Given the description of an element on the screen output the (x, y) to click on. 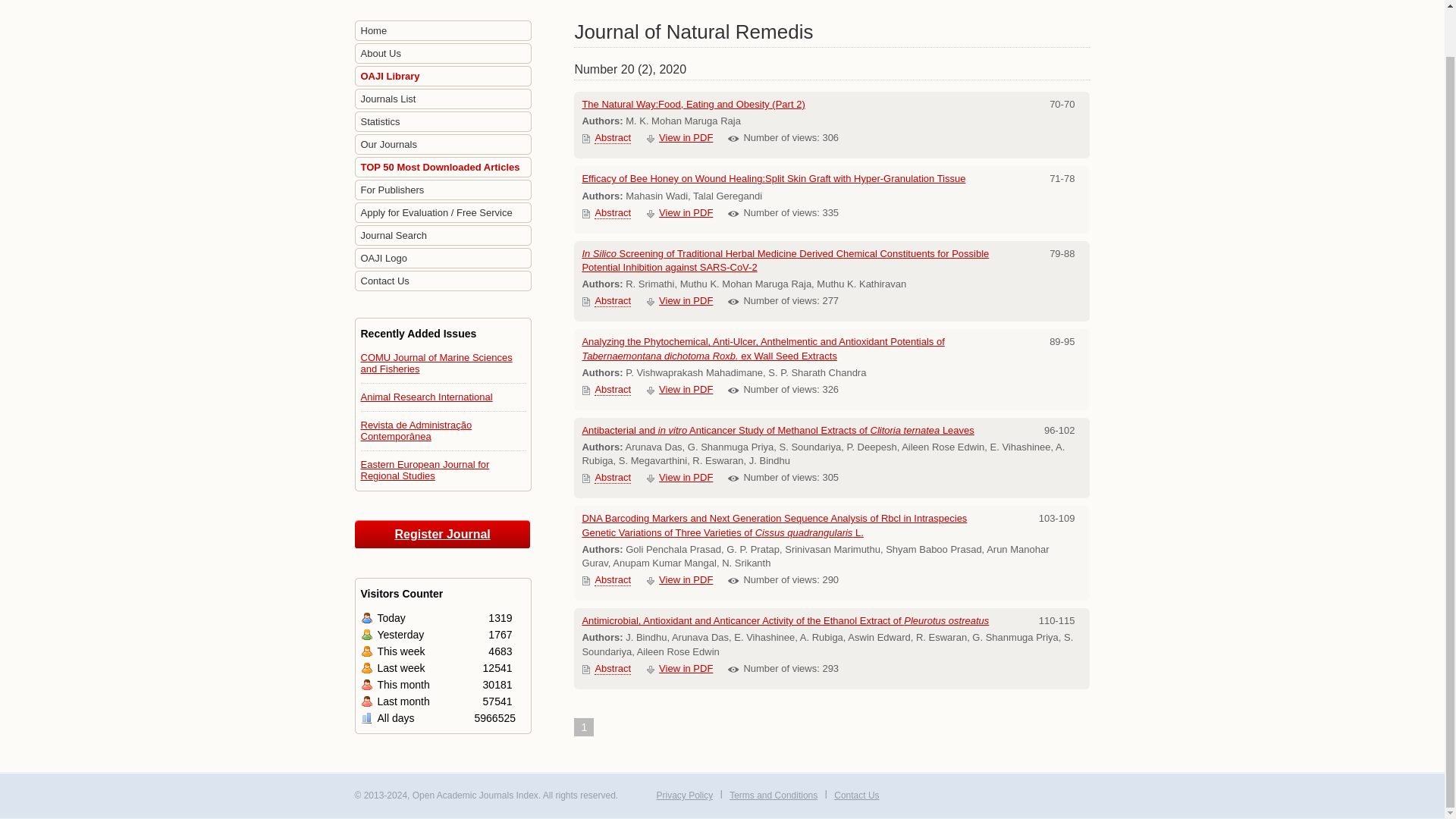
View in PDF (686, 137)
Contact Us (443, 281)
Home (443, 31)
Our Journals (443, 145)
Abstract (612, 137)
Animal Research International (427, 396)
Register Journal (443, 533)
Journal Search (443, 236)
For Publishers (443, 190)
Eastern European Journal for Regional Studies (425, 469)
View in PDF (686, 212)
OAJI Library (443, 76)
LiveInternet (917, 796)
About Us (443, 54)
Journals List (443, 99)
